Given the description of an element on the screen output the (x, y) to click on. 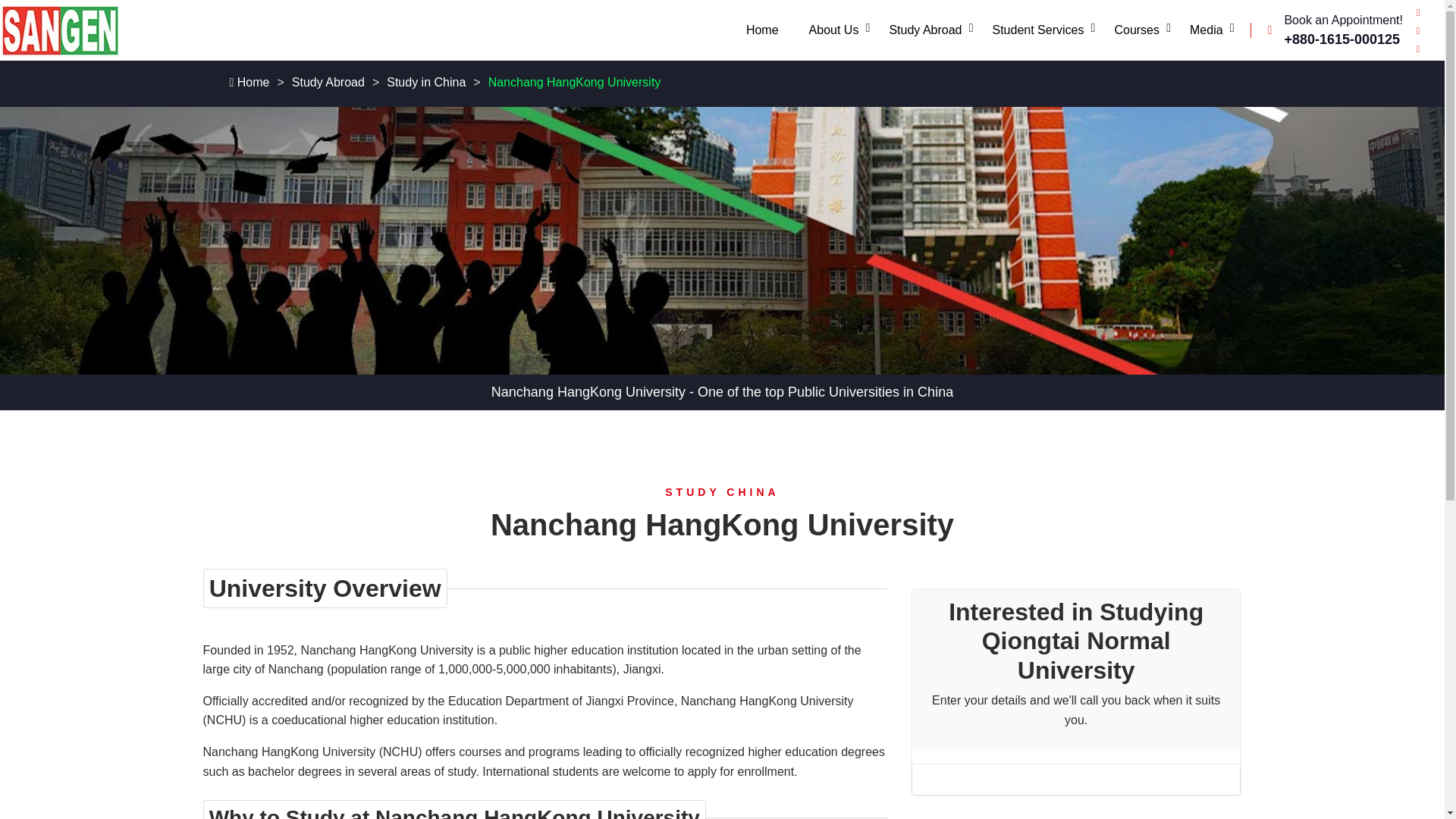
About Us (834, 29)
Visit our youtube page (1417, 48)
Study Abroad (924, 29)
Home (761, 29)
Visit our instagram page (1417, 29)
Courses (1136, 29)
Student Services (1037, 29)
